Given the description of an element on the screen output the (x, y) to click on. 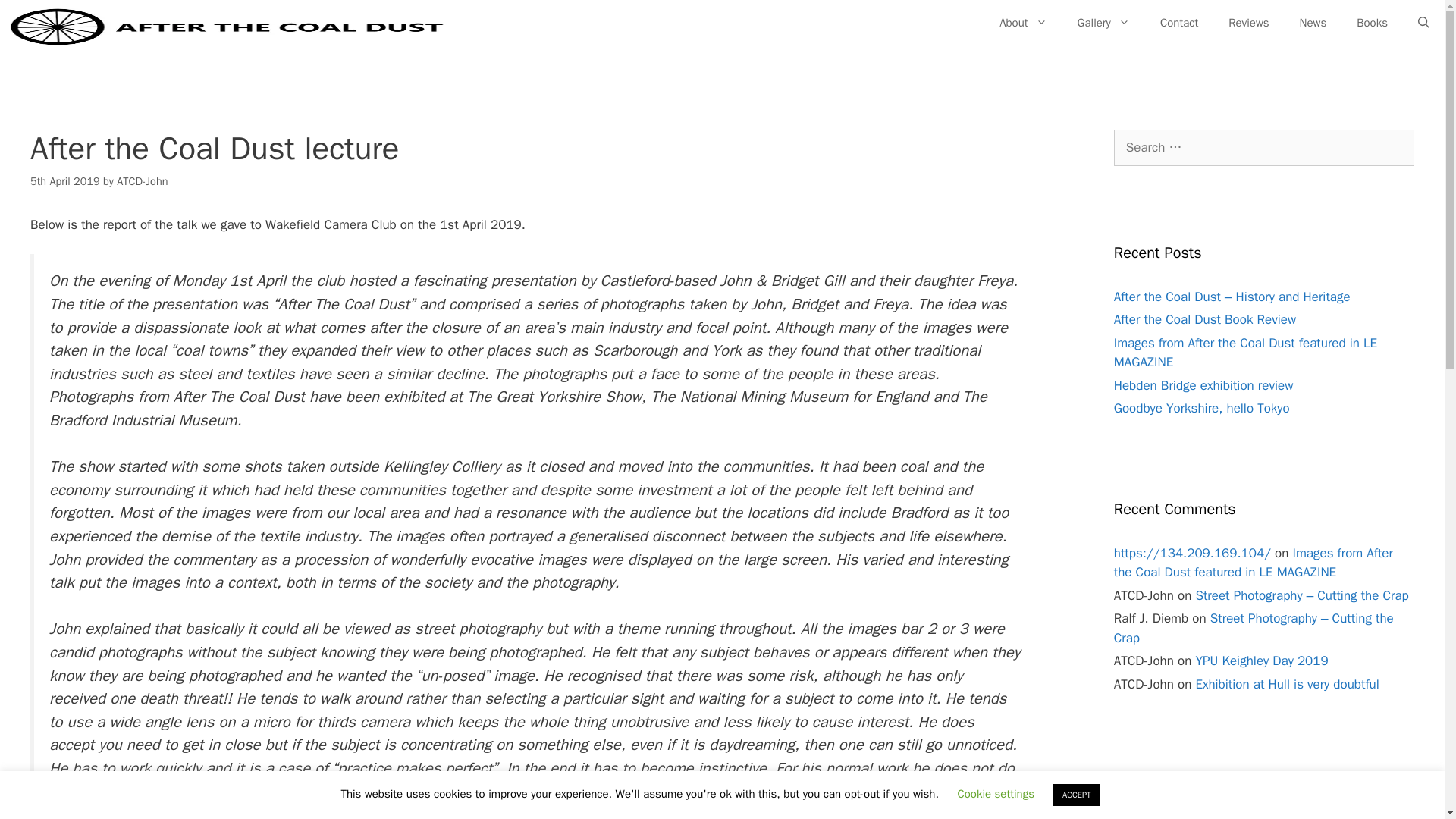
Hebden Bridge exhibition review (1203, 385)
About (1022, 22)
Search for: (1263, 147)
Books (1371, 22)
Search (35, 18)
After the Coal Dust Book Review (1204, 319)
Gallery (1103, 22)
Images from After the Coal Dust featured in LE MAGAZINE (1245, 352)
View all posts by ATCD-John (141, 181)
News (1313, 22)
Reviews (1248, 22)
AFTER THE COAL DUST (227, 27)
Contact (1178, 22)
ATCD-John (141, 181)
